Given the description of an element on the screen output the (x, y) to click on. 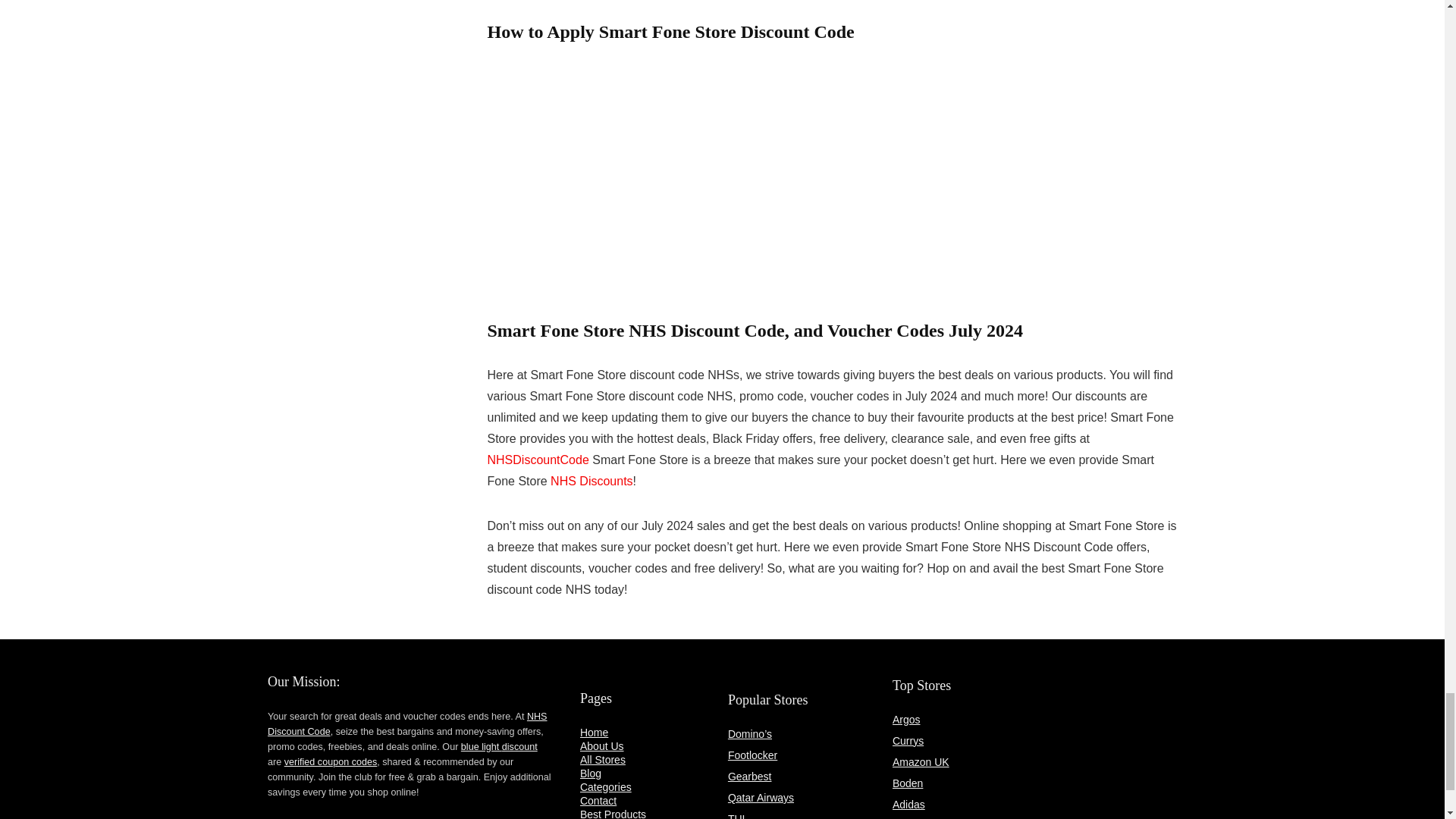
YouTube video player (698, 185)
